Given the description of an element on the screen output the (x, y) to click on. 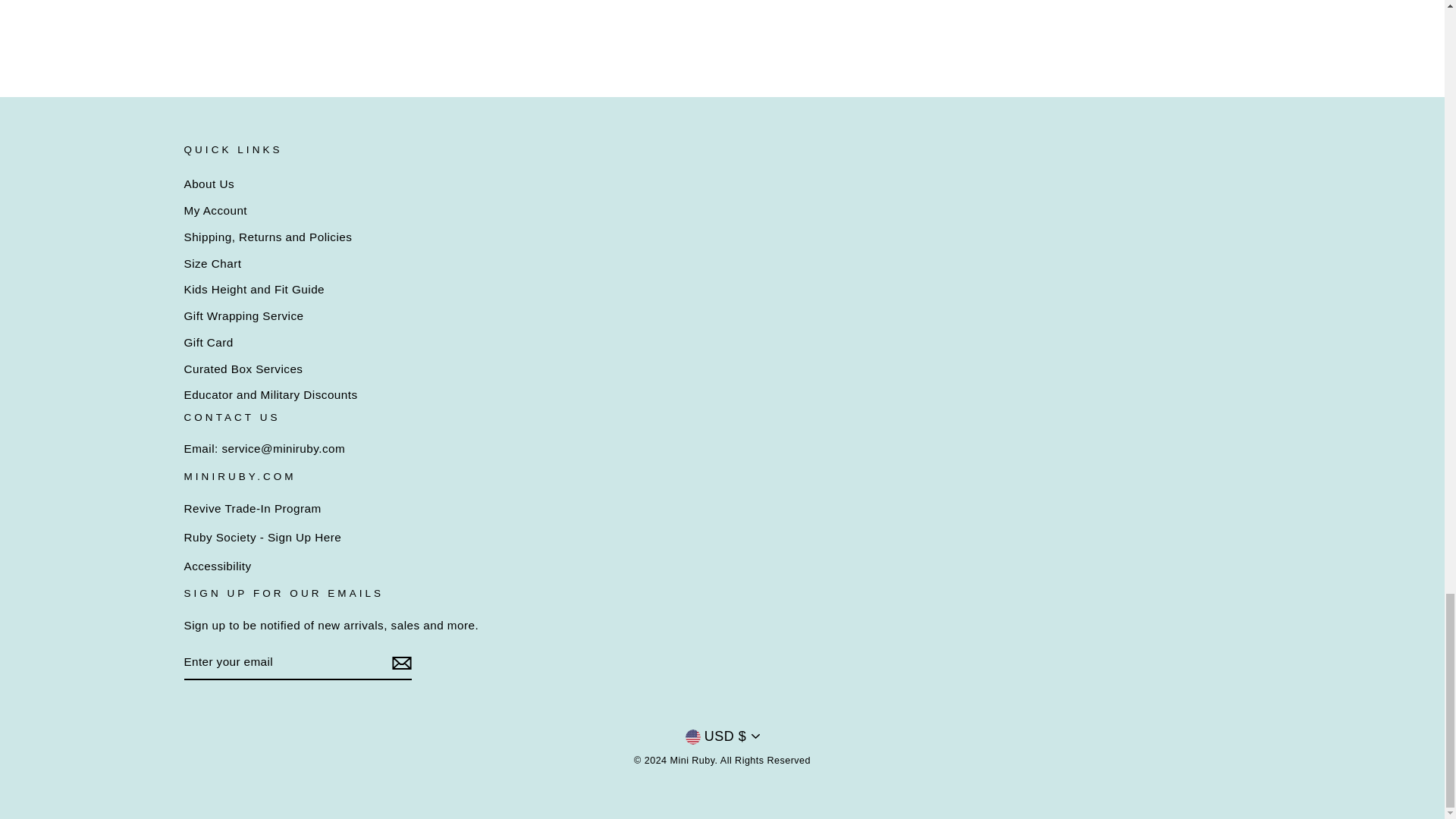
The Ruby Society (261, 536)
Revive Program (251, 508)
Accessibility (216, 565)
